Given the description of an element on the screen output the (x, y) to click on. 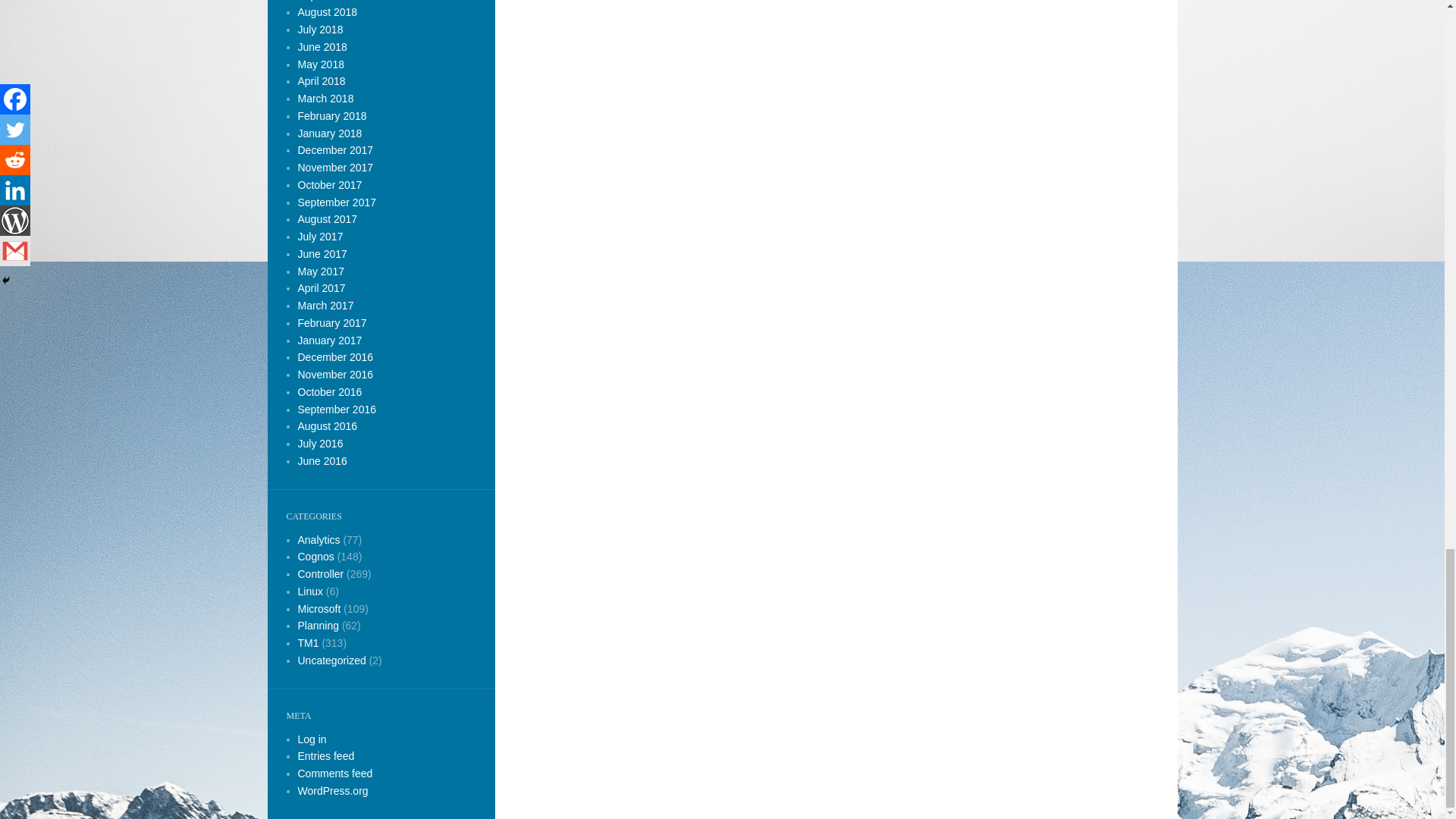
Information about Cognos Planning (318, 625)
Information about Cognos TM1 (307, 643)
Information about Cognos Controller (320, 573)
Information about Cognos BI (315, 556)
IBM Cognos Business Intelligence  (318, 539)
